Given the description of an element on the screen output the (x, y) to click on. 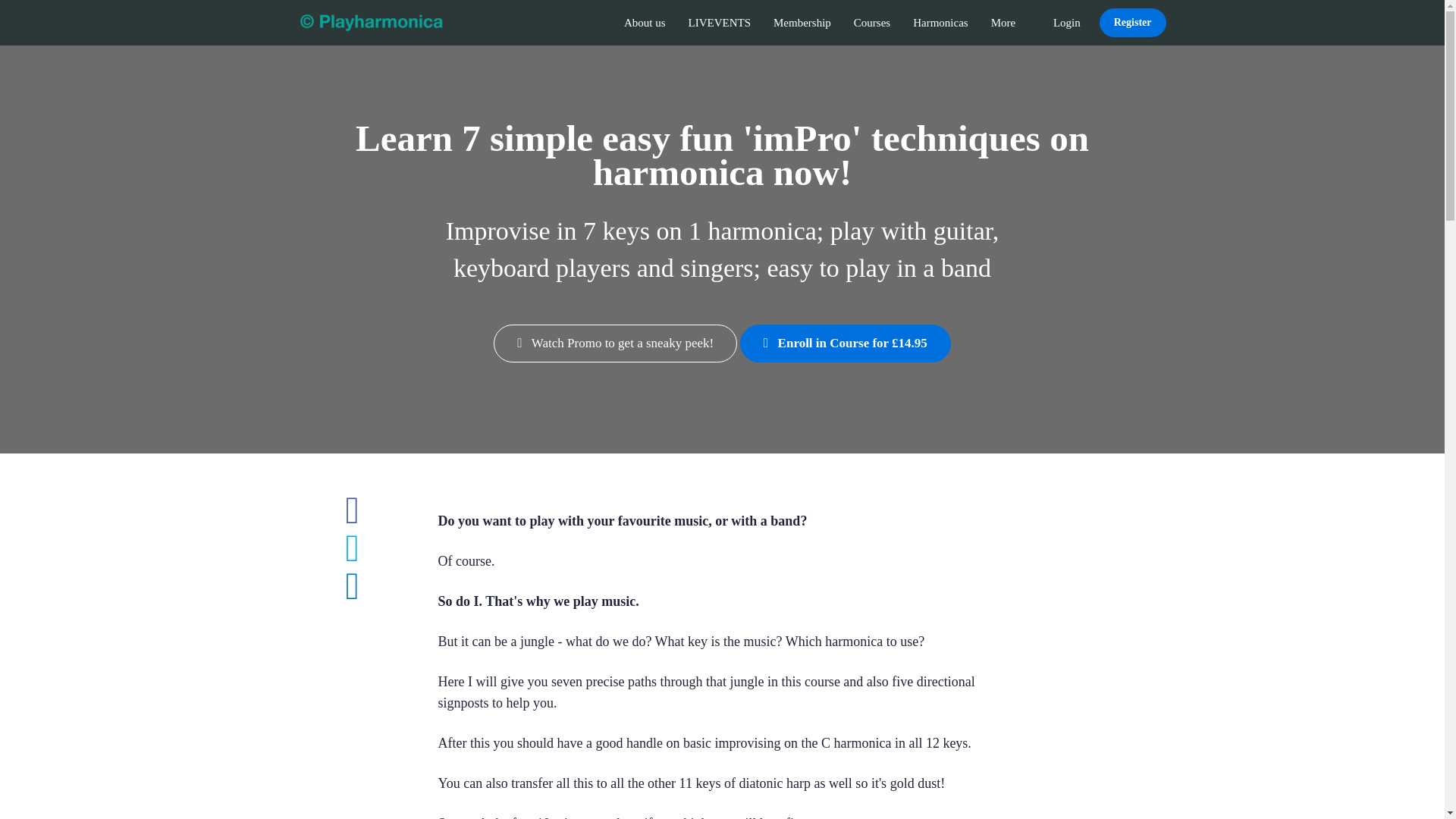
More (1010, 22)
Login (1067, 22)
About us (644, 22)
Harmonicas (939, 22)
Membership (802, 22)
   Watch Promo to get a sneaky peek! (614, 343)
LIVEVENTS (719, 22)
Courses (872, 22)
Register (1132, 22)
